Given the description of an element on the screen output the (x, y) to click on. 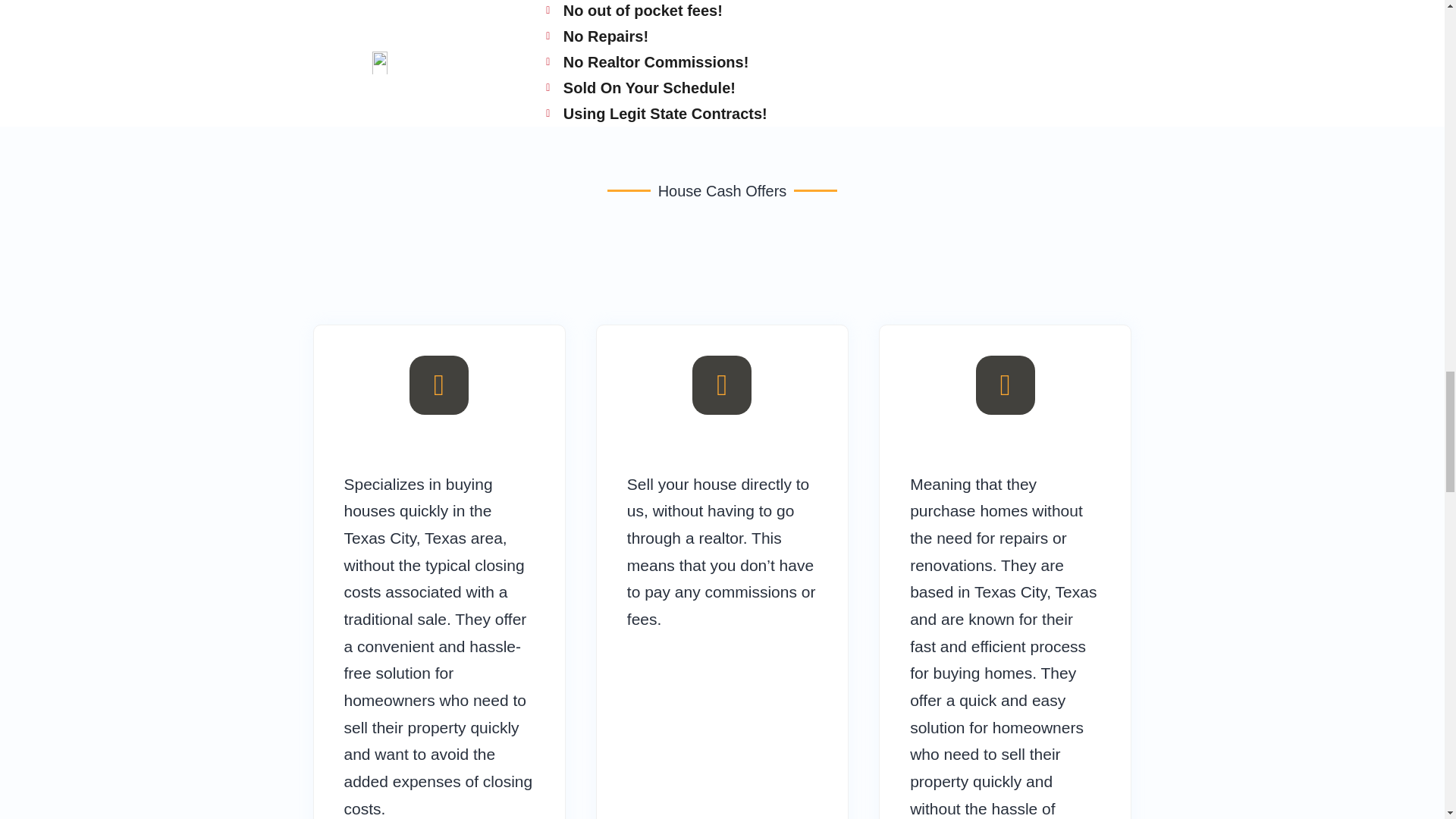
Texas City (379, 538)
Texas City (379, 538)
